Given the description of an element on the screen output the (x, y) to click on. 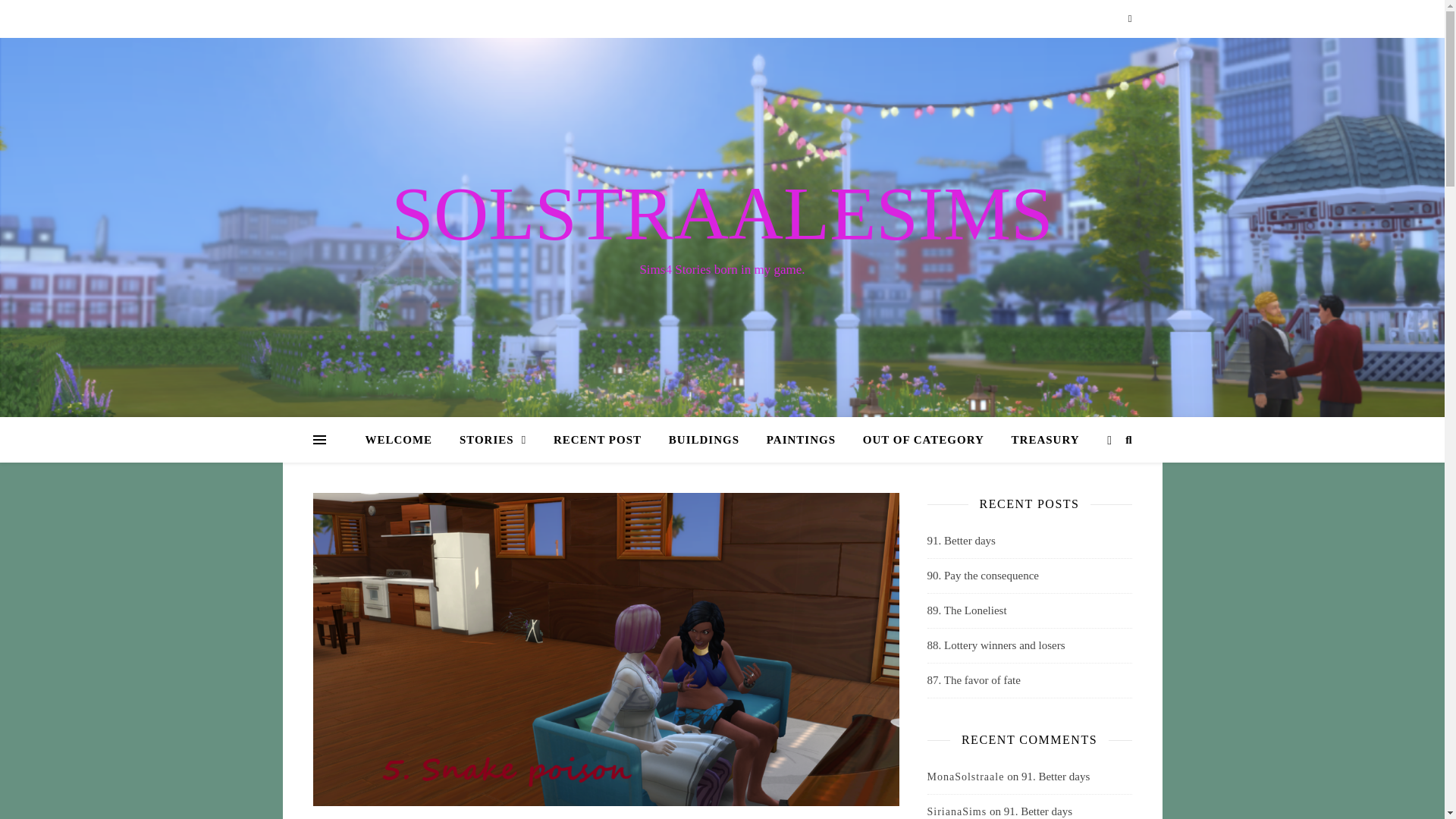
WELCOME (404, 439)
TREASURY (1039, 439)
STORIES (492, 439)
OUT OF CATEGORY (922, 439)
RECENT POST (597, 439)
BUILDINGS (703, 439)
PAINTINGS (800, 439)
